Given the description of an element on the screen output the (x, y) to click on. 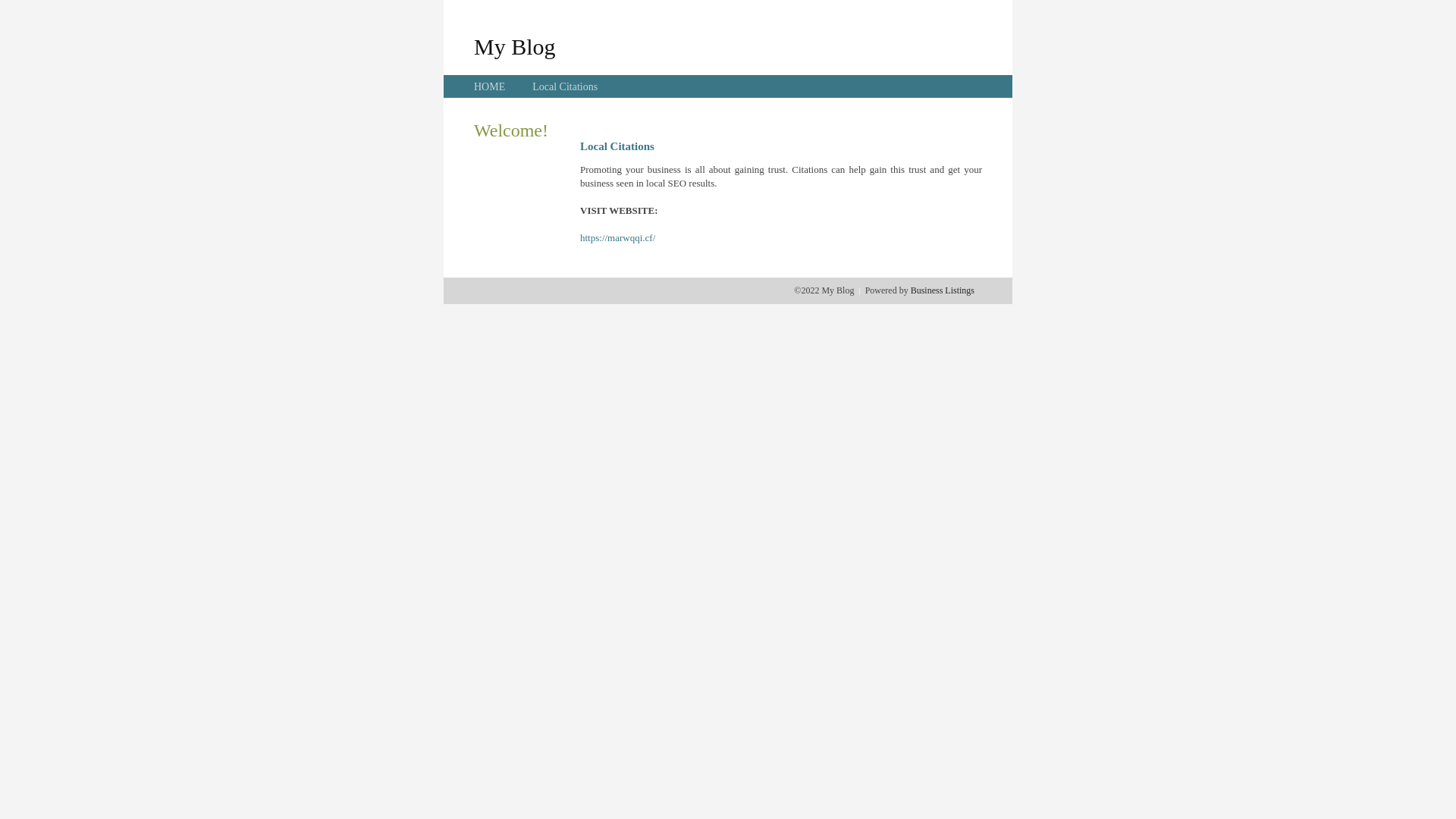
HOME Element type: text (489, 86)
https://marwqqi.cf/ Element type: text (617, 237)
My Blog Element type: text (514, 46)
Business Listings Element type: text (942, 290)
Local Citations Element type: text (564, 86)
